Given the description of an element on the screen output the (x, y) to click on. 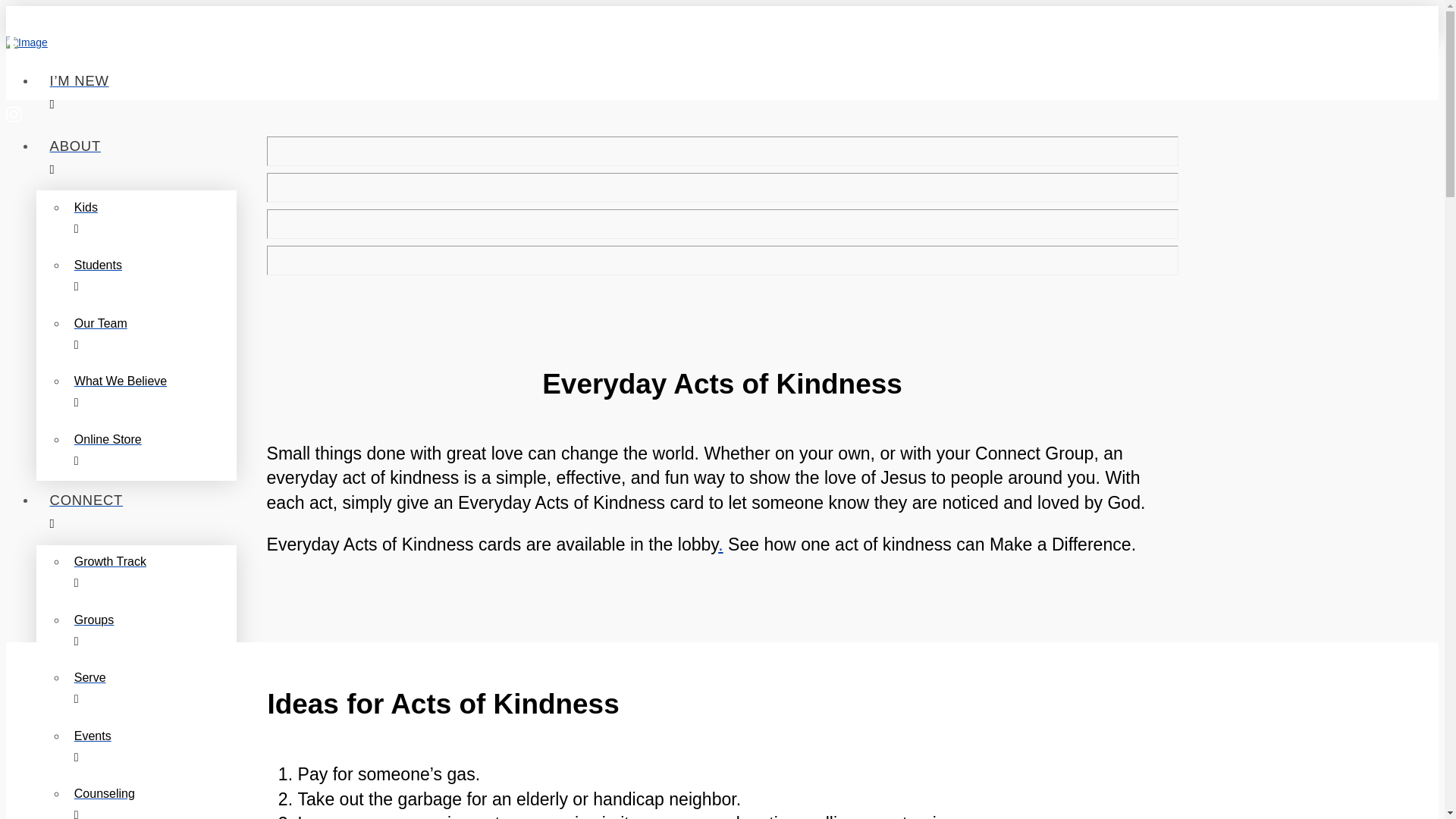
Events Element type: text (151, 747)
Groups Element type: text (151, 631)
Growth Track Element type: text (151, 573)
. Element type: text (720, 544)
Students Element type: text (151, 277)
CONNECT Element type: text (476, 512)
Kids Element type: text (151, 218)
Serve Element type: text (151, 689)
ABOUT Element type: text (476, 157)
Our Team Element type: text (151, 335)
What We Believe Element type: text (151, 393)
Online Store Element type: text (151, 451)
